Given the description of an element on the screen output the (x, y) to click on. 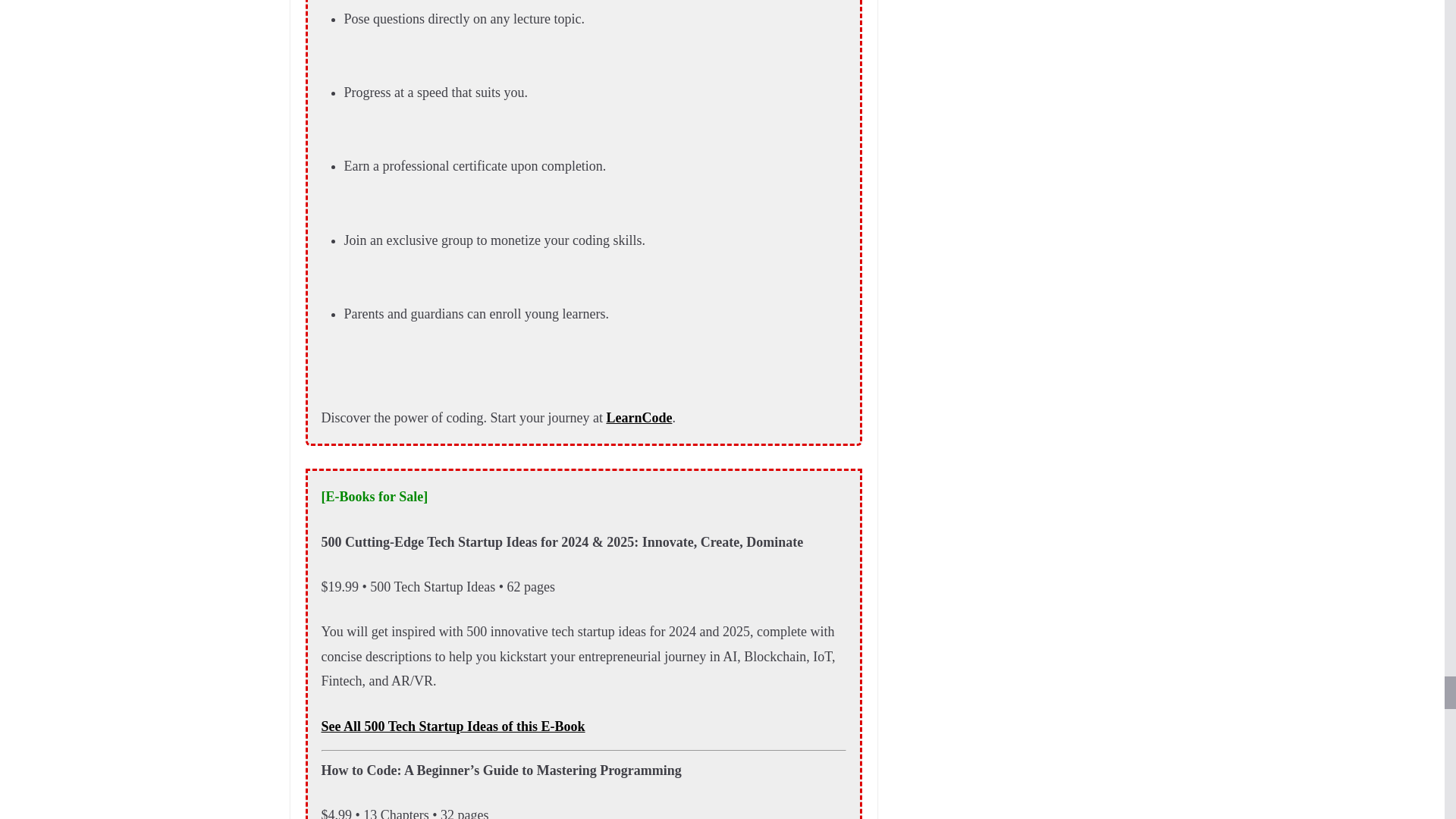
See All 500 Tech Startup Ideas of this E-Book (453, 726)
LearnCode (638, 417)
